Given the description of an element on the screen output the (x, y) to click on. 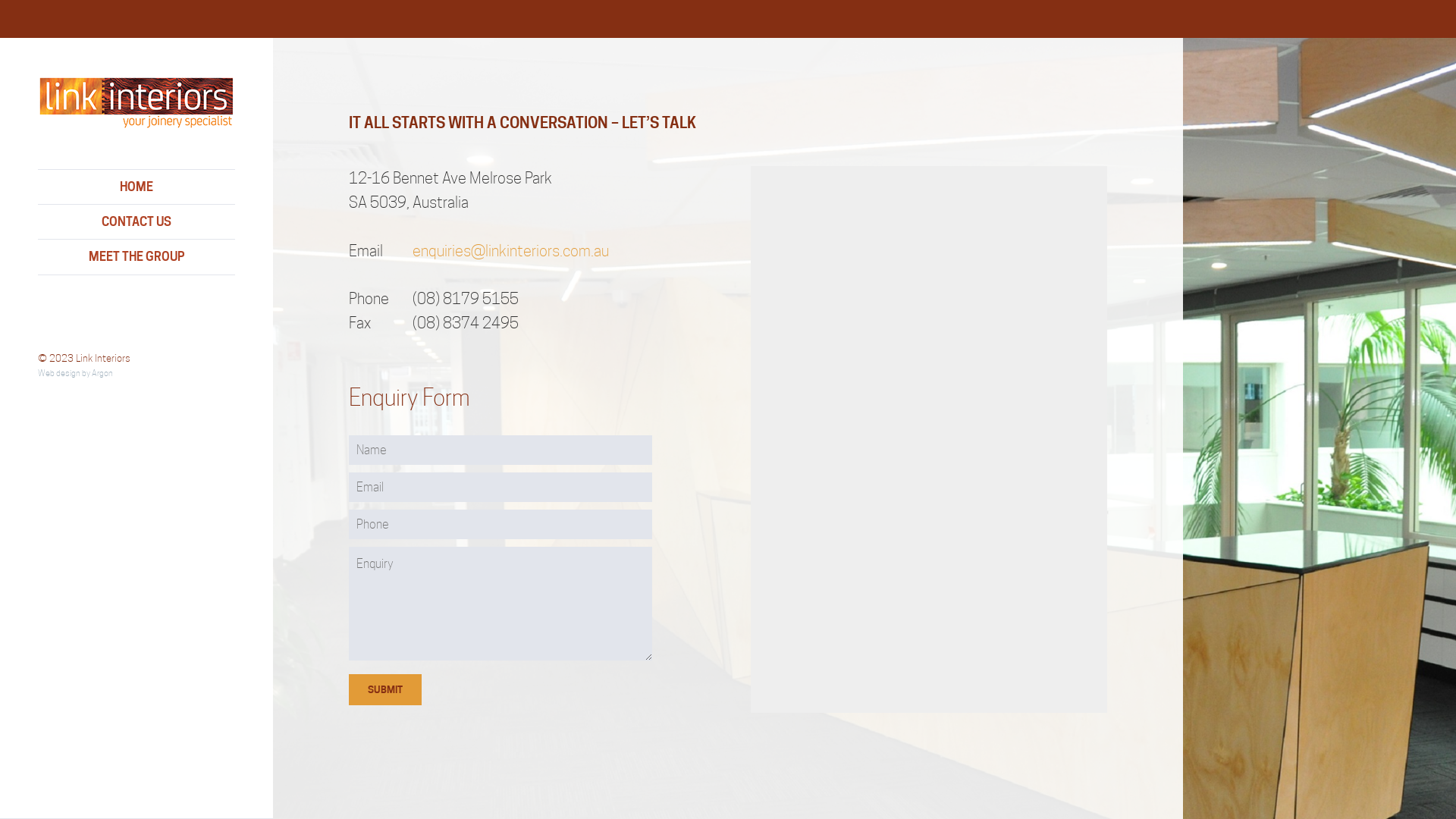
enquiries@linkinteriors.com.au Element type: text (510, 250)
Web design Element type: text (58, 372)
Submit Element type: text (384, 689)
MEET THE GROUP Element type: text (136, 256)
HOME Element type: text (136, 186)
CONTACT US Element type: text (136, 221)
